Given the description of an element on the screen output the (x, y) to click on. 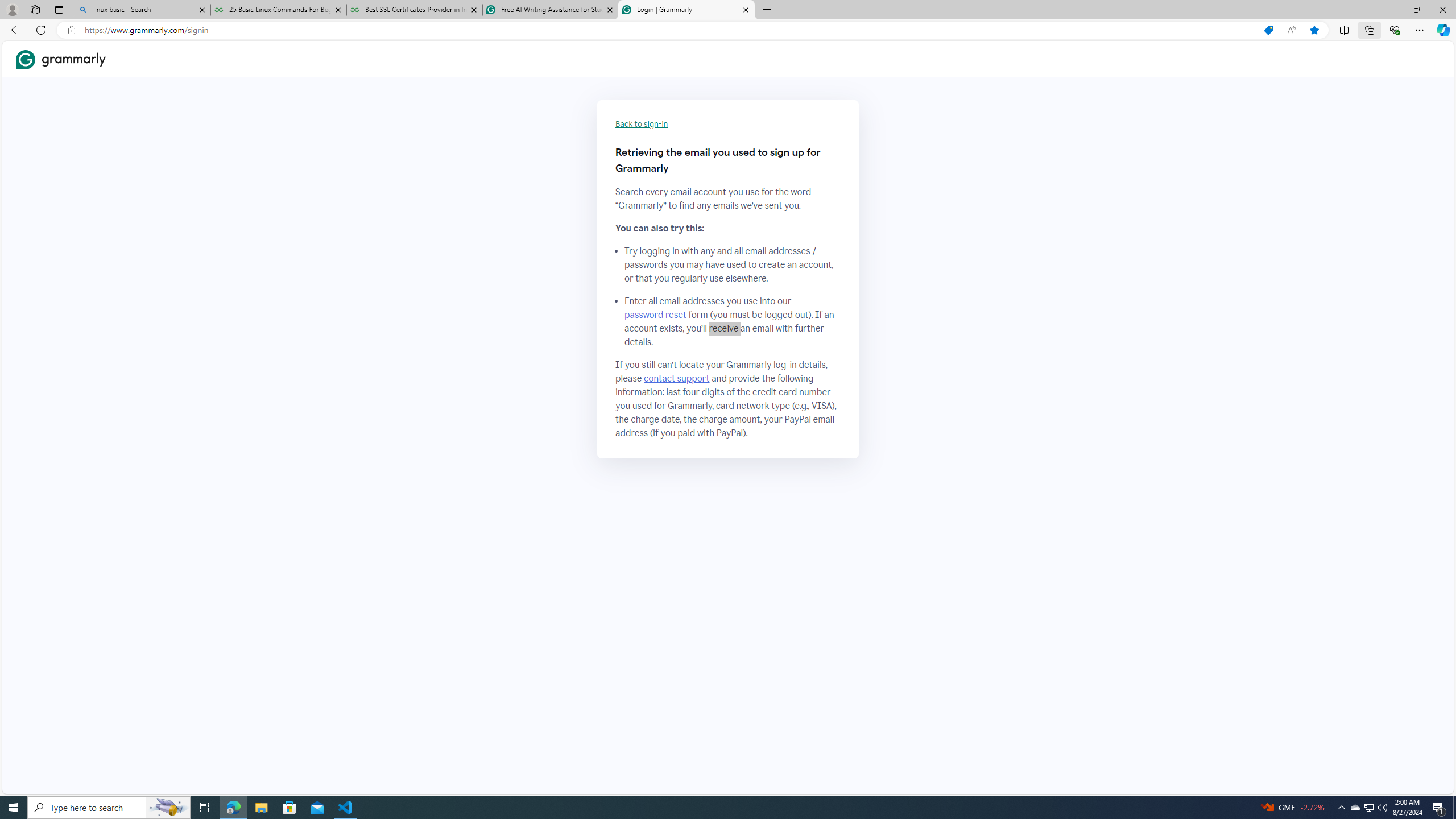
Free AI Writing Assistance for Students | Grammarly (550, 9)
